Given the description of an element on the screen output the (x, y) to click on. 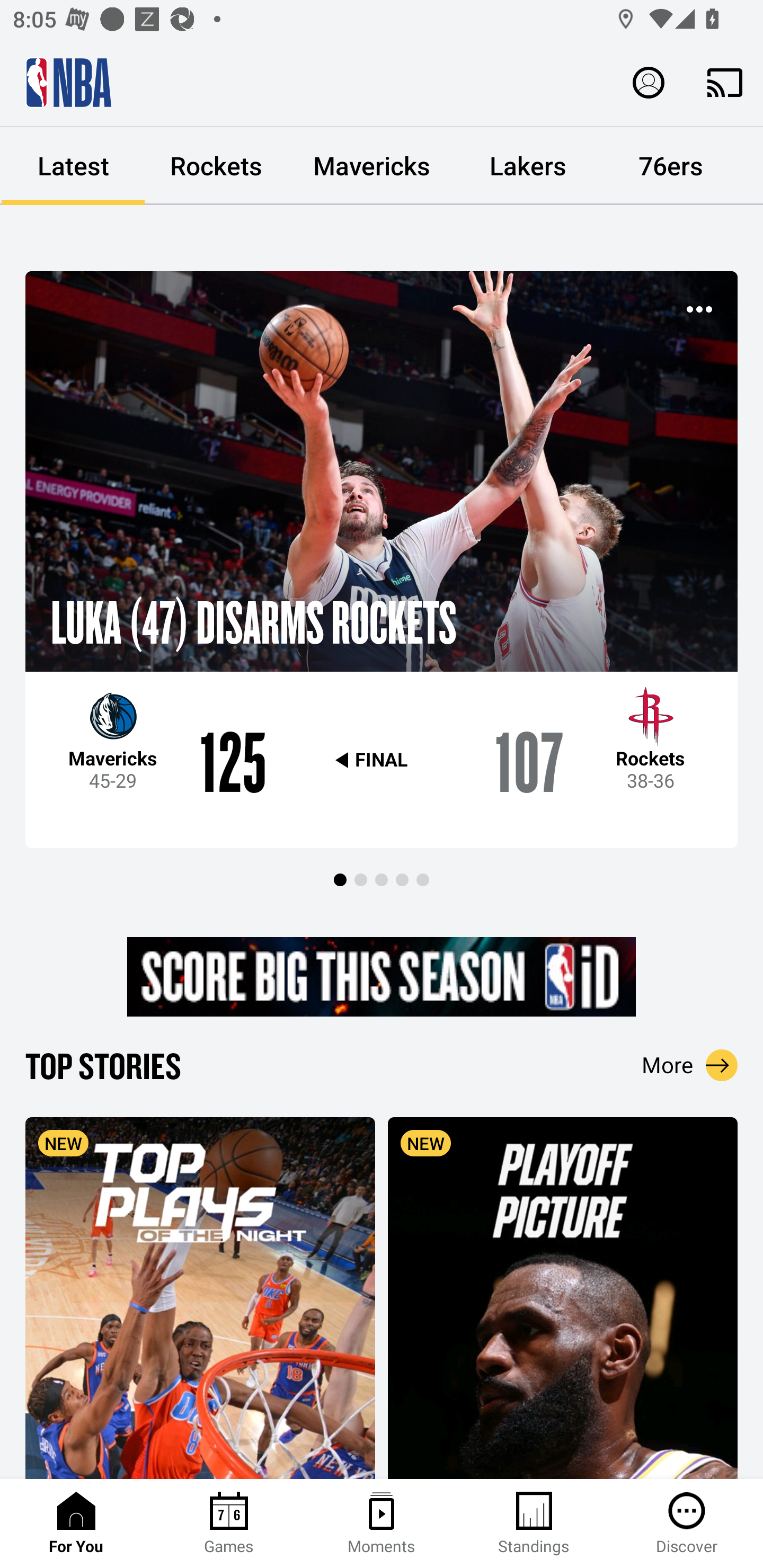
Cast. Disconnected (724, 82)
Profile (648, 81)
Rockets (215, 166)
Mavericks (371, 166)
Lakers (527, 166)
76ers (670, 166)
TOP STORIES More NEW NEW (381, 1260)
More (689, 1064)
NEW (200, 1297)
NEW (562, 1297)
Games (228, 1523)
Moments (381, 1523)
Standings (533, 1523)
Discover (686, 1523)
